Given the description of an element on the screen output the (x, y) to click on. 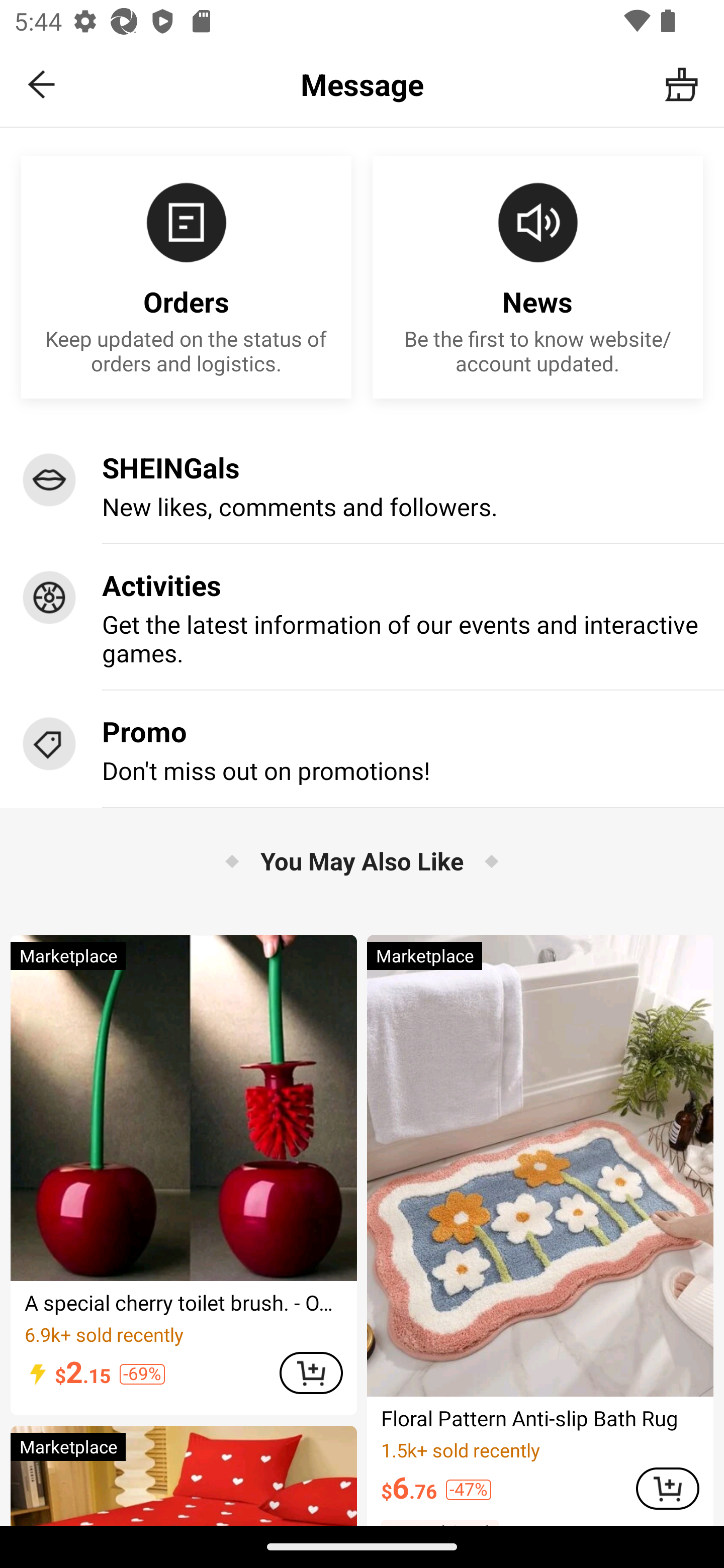
Navigate up (42, 84)
News Be the first to know website/account updated. (537, 276)
SHEINGals New likes, comments and followers. (362, 485)
Promo Don't miss out on promotions! (362, 748)
You May Also Like (362, 860)
ADD TO CART (311, 1372)
ADD TO CART (667, 1488)
